Given the description of an element on the screen output the (x, y) to click on. 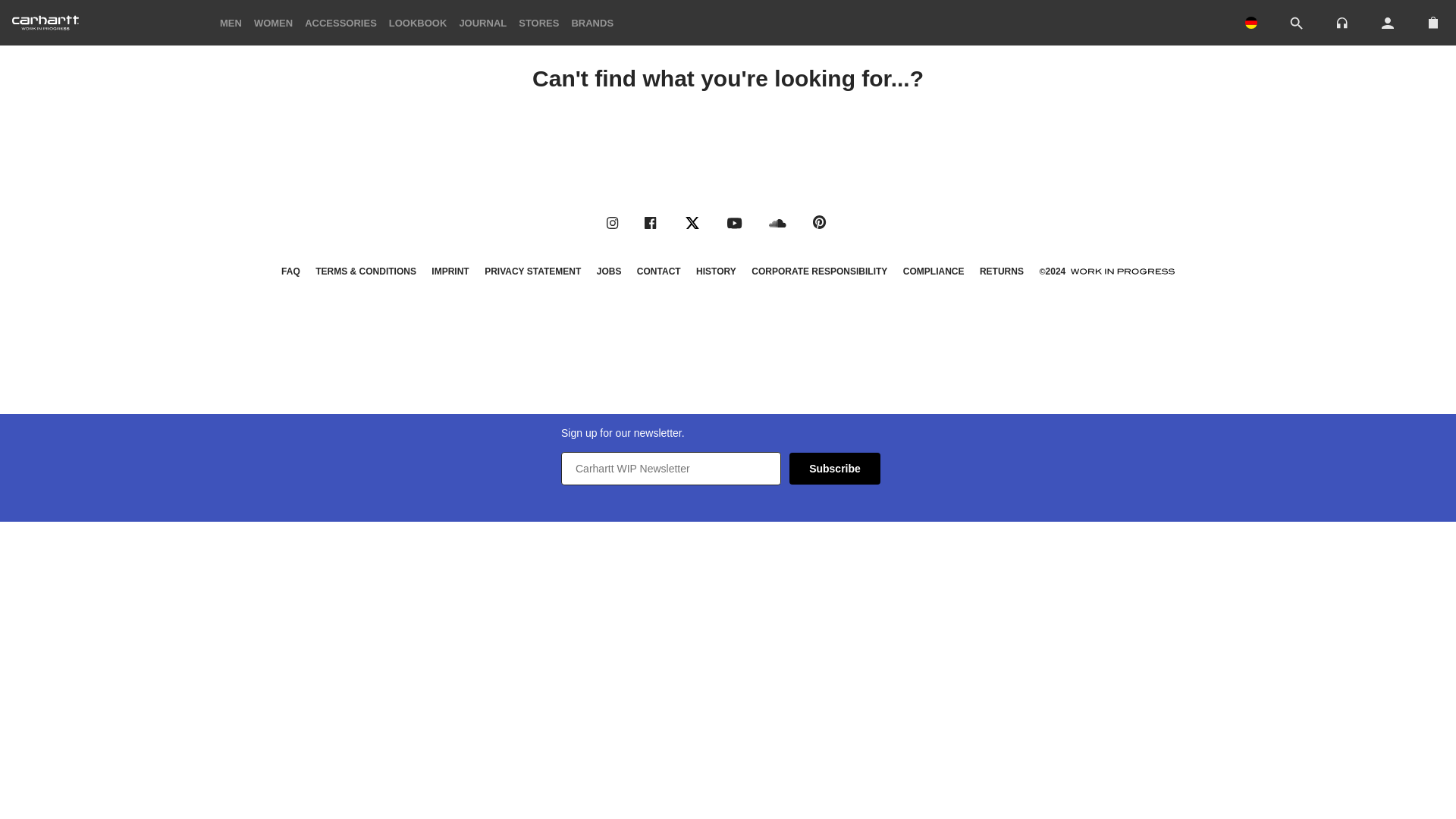
Radio (1342, 21)
Search (1296, 22)
Select country (1251, 22)
Social-Soundcloud Created with Sketch. (777, 223)
Social-Pinterest Created with Sketch. (819, 222)
Select country (1250, 22)
MEN (230, 21)
Search (1296, 23)
Login (1387, 22)
Social-Twitter (691, 223)
